Given the description of an element on the screen output the (x, y) to click on. 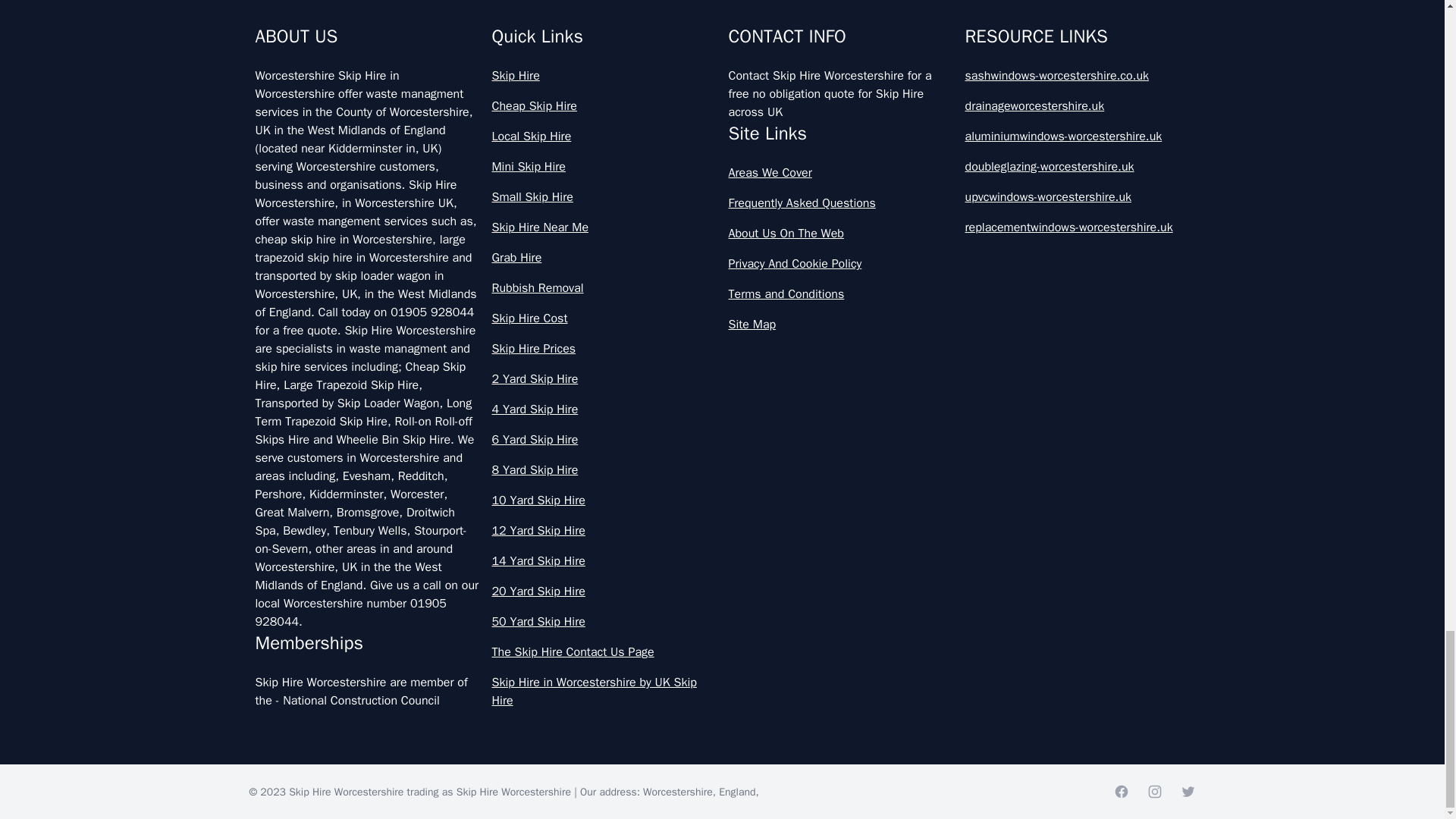
upvcwindows-worcestershire.uk (1076, 197)
National Construction Council (360, 700)
doubleglazing-worcestershire.uk (1076, 167)
Skip Hire (604, 75)
Skip Hire in Worcestershire by UK Skip Hire (604, 691)
sashwindows-worcestershire.co.uk (1076, 75)
aluminiumwindows-worcestershire.uk (1076, 136)
Pin's Green (486, 7)
Local Skip Hire (604, 136)
Cheap Skip Hire (604, 106)
replacementwindows-worcestershire.uk (1076, 227)
drainageworcestershire.uk (1076, 106)
Site Map (840, 324)
